Given the description of an element on the screen output the (x, y) to click on. 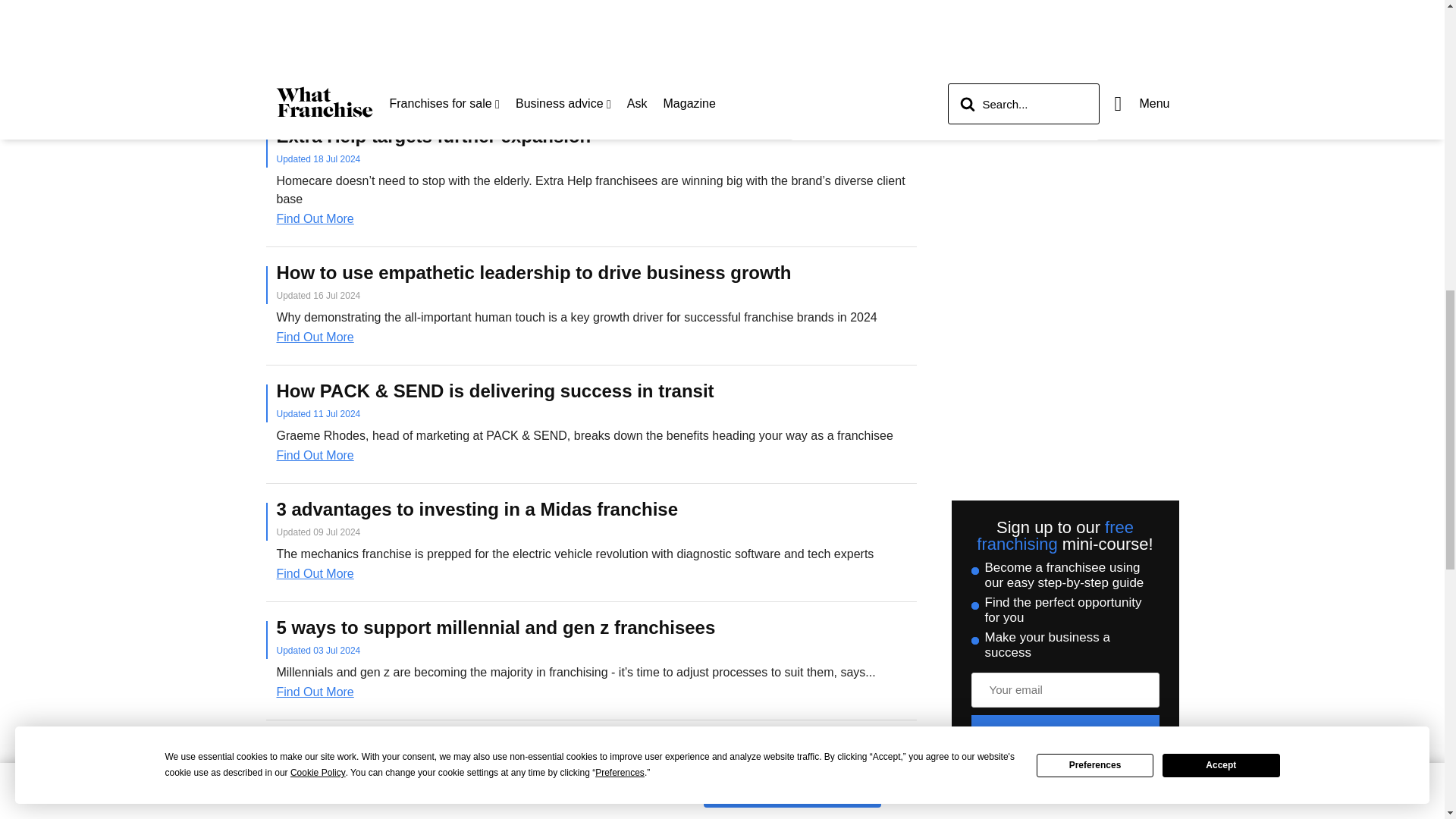
Get started! (1064, 733)
